Given the description of an element on the screen output the (x, y) to click on. 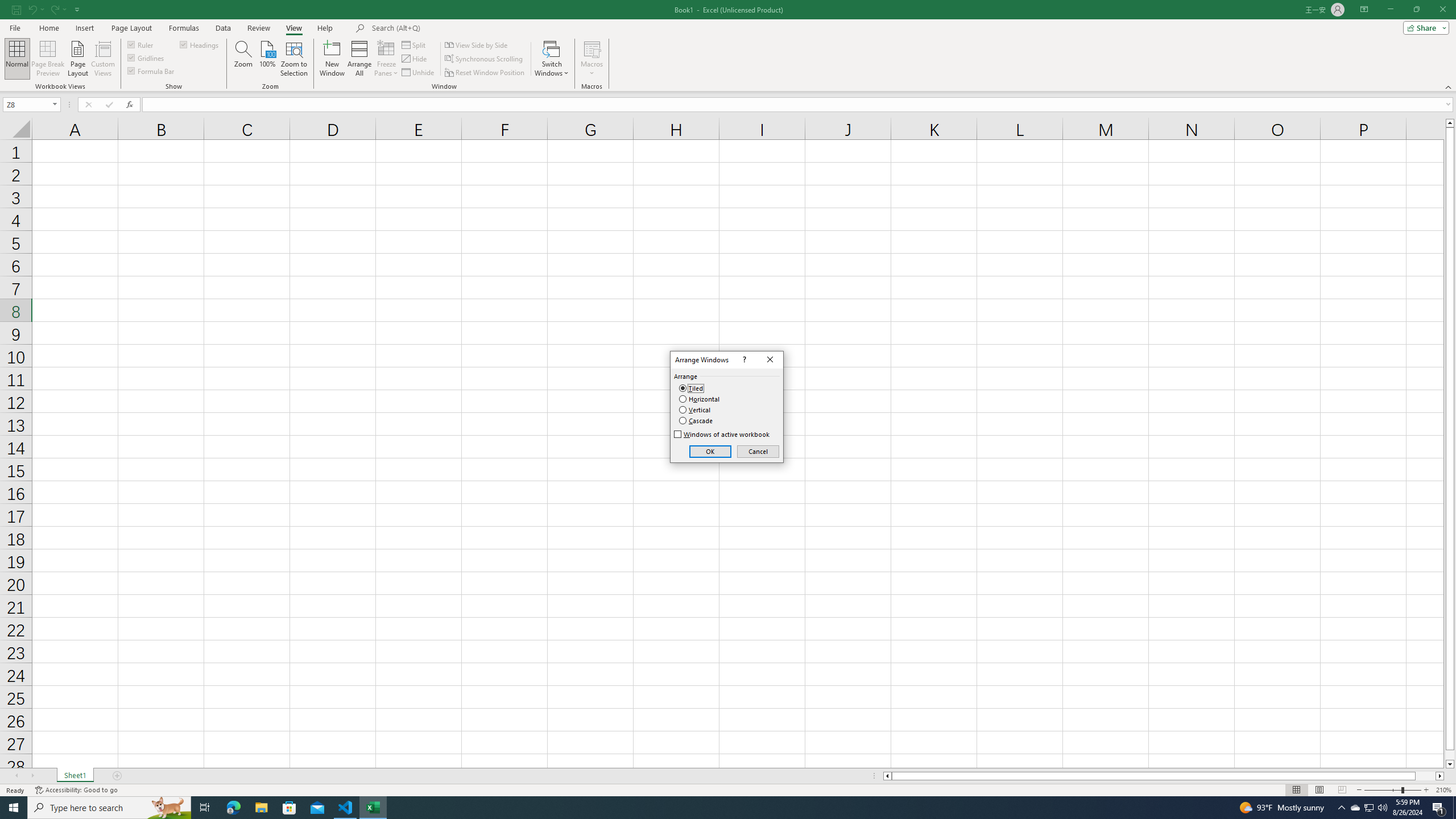
Search highlights icon opens search home window (167, 807)
Split (414, 44)
New Window (332, 58)
Reset Window Position (485, 72)
Hide (415, 58)
